Given the description of an element on the screen output the (x, y) to click on. 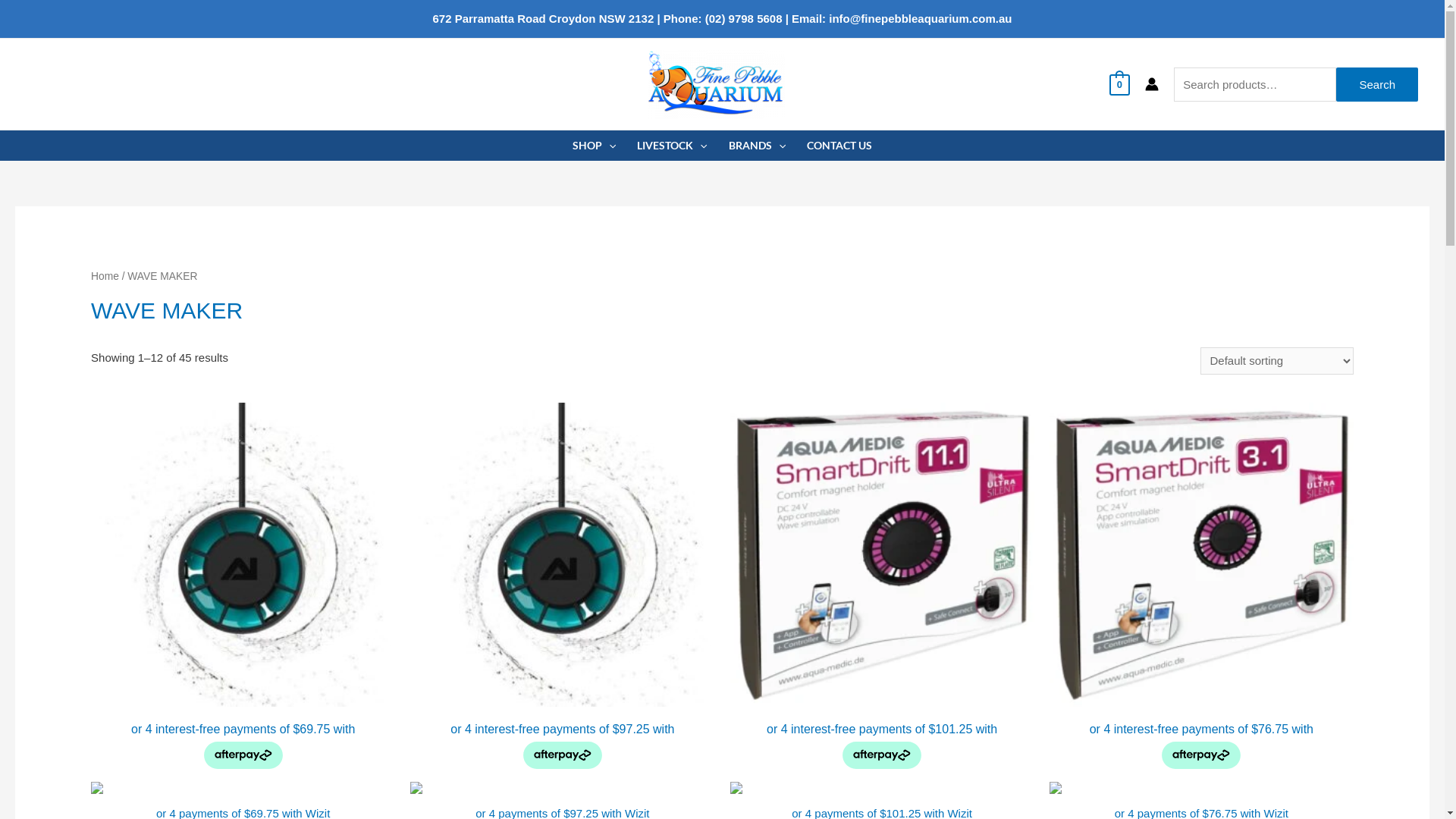
Home Element type: text (105, 276)
0 Element type: text (1119, 83)
or 4 interest-free payments of $76.75 with Element type: text (1201, 585)
or 4 interest-free payments of $97.25 with Element type: text (562, 585)
LIVESTOCK Element type: text (671, 145)
SHOP Element type: text (593, 145)
(02) 9798 5608 Element type: text (743, 18)
BRANDS Element type: text (757, 145)
Search Element type: text (1377, 83)
or 4 interest-free payments of $69.75 with Element type: text (243, 585)
CONTACT US Element type: text (839, 145)
or 4 interest-free payments of $101.25 with Element type: text (881, 585)
info@finepebbleaquarium.com.au Element type: text (919, 18)
